Given the description of an element on the screen output the (x, y) to click on. 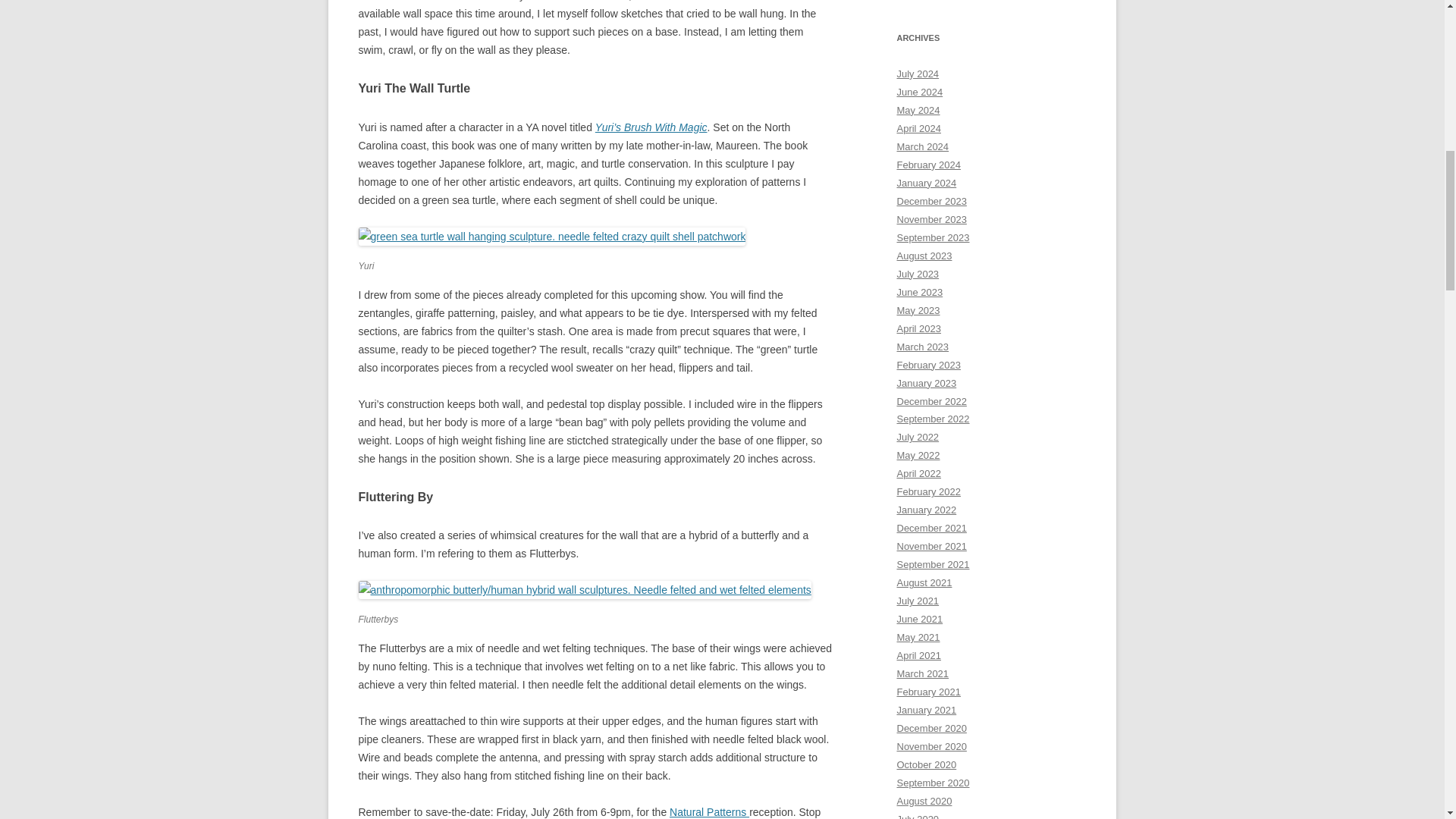
Natural Patterns (709, 811)
